Given the description of an element on the screen output the (x, y) to click on. 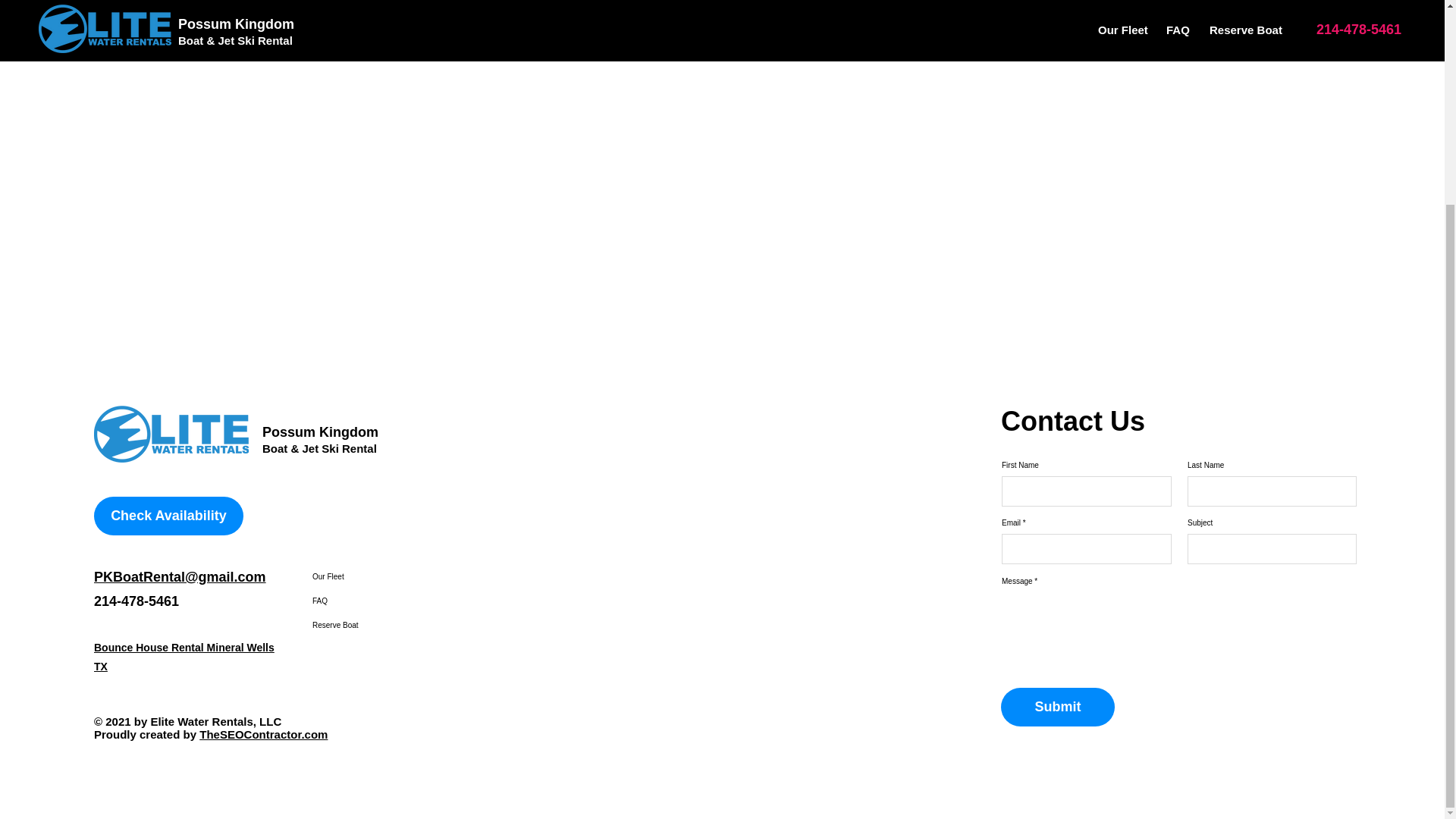
Submit (1058, 706)
Asset 1.png (171, 433)
Reserve Boat (369, 625)
Bounce House Rental Mineral Wells TX (184, 656)
Possum Kingdom (320, 432)
TheSEOContractor.com (263, 734)
FAQ (369, 600)
Check Availability (168, 515)
